Given the description of an element on the screen output the (x, y) to click on. 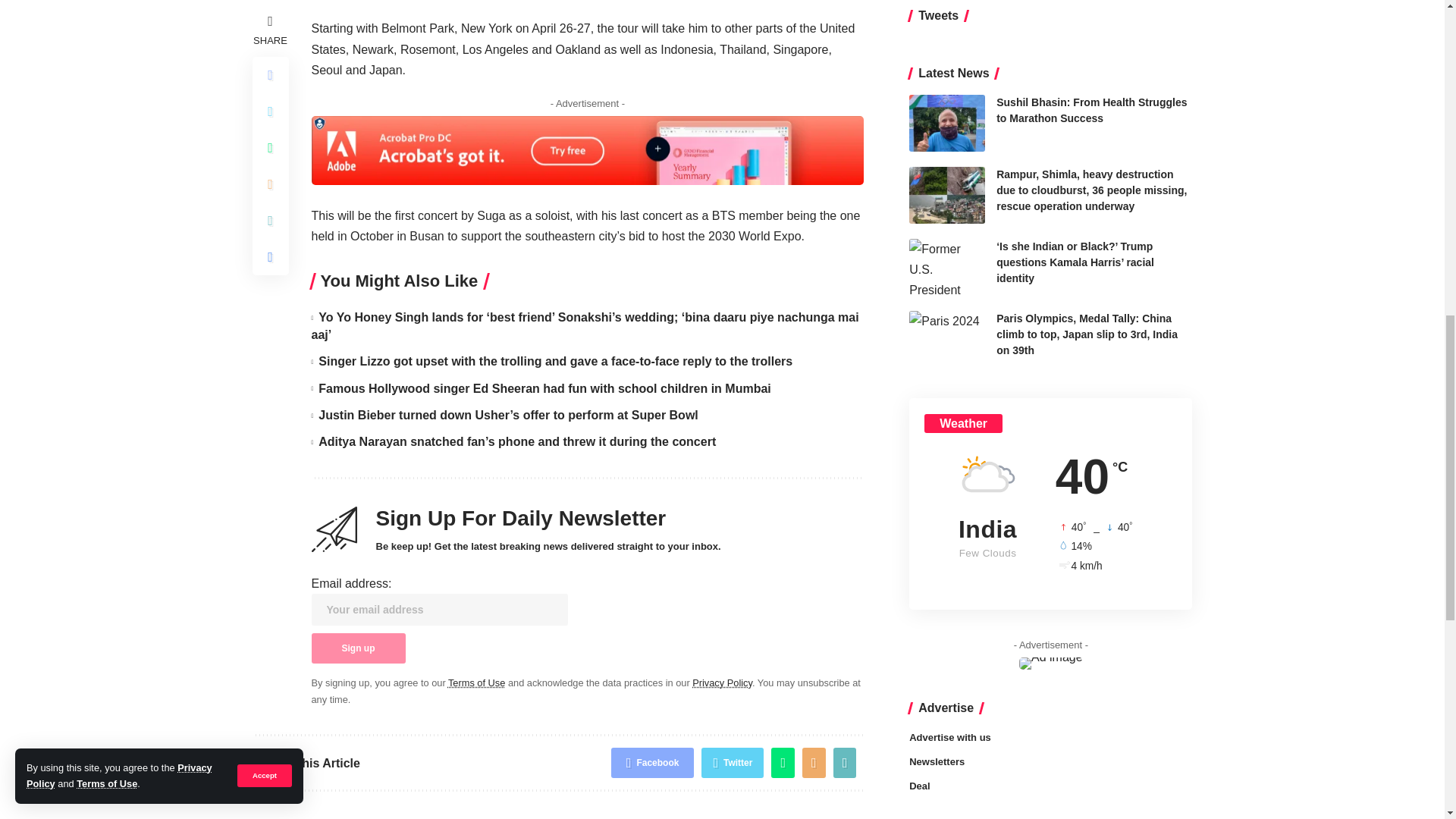
Sushil Bhasin: From Health Struggles to Marathon Success (946, 1)
Sign up (357, 648)
